Given the description of an element on the screen output the (x, y) to click on. 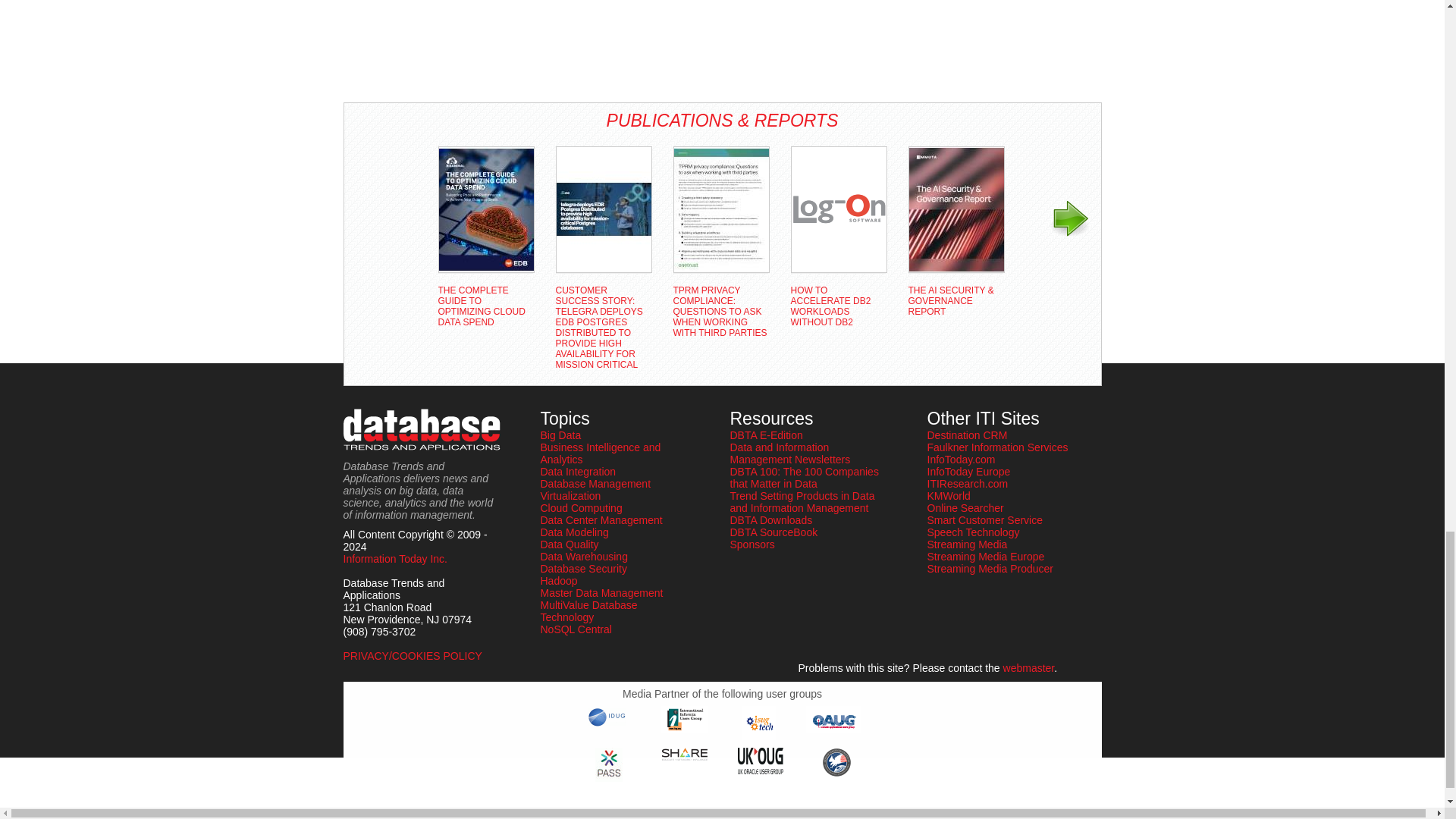
3rd party ad content (403, 46)
